Given the description of an element on the screen output the (x, y) to click on. 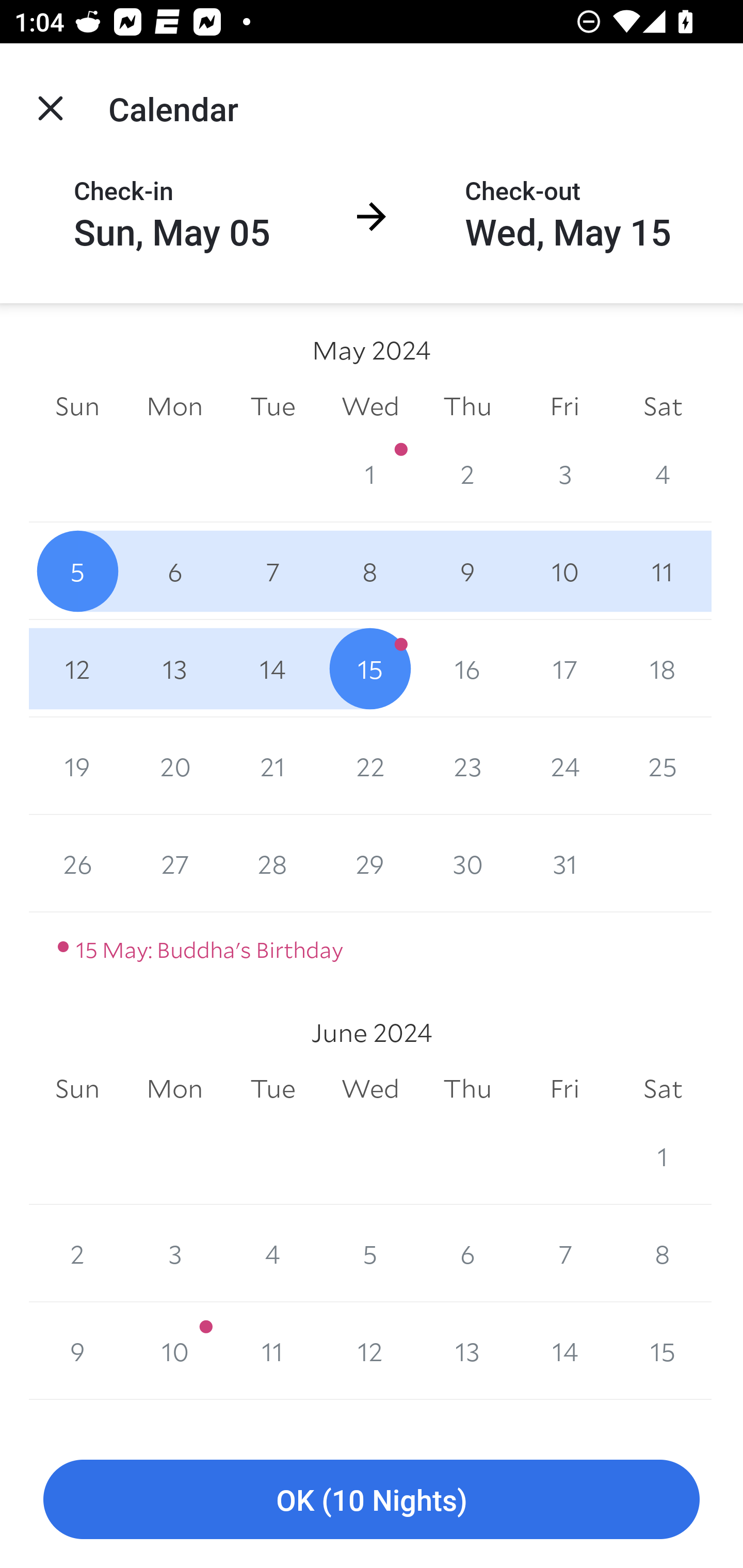
Sun (77, 405)
Mon (174, 405)
Tue (272, 405)
Wed (370, 405)
Thu (467, 405)
Fri (564, 405)
Sat (662, 405)
1 1 May 2024 (370, 473)
2 2 May 2024 (467, 473)
3 3 May 2024 (564, 473)
4 4 May 2024 (662, 473)
5 5 May 2024 (77, 570)
6 6 May 2024 (174, 570)
7 7 May 2024 (272, 570)
8 8 May 2024 (370, 570)
9 9 May 2024 (467, 570)
10 10 May 2024 (564, 570)
11 11 May 2024 (662, 570)
12 12 May 2024 (77, 668)
13 13 May 2024 (174, 668)
14 14 May 2024 (272, 668)
15 15 May 2024 (370, 668)
16 16 May 2024 (467, 668)
17 17 May 2024 (564, 668)
18 18 May 2024 (662, 668)
19 19 May 2024 (77, 766)
20 20 May 2024 (174, 766)
21 21 May 2024 (272, 766)
22 22 May 2024 (370, 766)
23 23 May 2024 (467, 766)
24 24 May 2024 (564, 766)
25 25 May 2024 (662, 766)
26 26 May 2024 (77, 863)
27 27 May 2024 (174, 863)
28 28 May 2024 (272, 863)
29 29 May 2024 (370, 863)
30 30 May 2024 (467, 863)
31 31 May 2024 (564, 863)
Sun (77, 1088)
Mon (174, 1088)
Tue (272, 1088)
Wed (370, 1088)
Thu (467, 1088)
Fri (564, 1088)
Sat (662, 1088)
1 1 June 2024 (662, 1155)
2 2 June 2024 (77, 1253)
3 3 June 2024 (174, 1253)
4 4 June 2024 (272, 1253)
5 5 June 2024 (370, 1253)
6 6 June 2024 (467, 1253)
7 7 June 2024 (564, 1253)
8 8 June 2024 (662, 1253)
9 9 June 2024 (77, 1351)
10 10 June 2024 (174, 1351)
11 11 June 2024 (272, 1351)
12 12 June 2024 (370, 1351)
13 13 June 2024 (467, 1351)
14 14 June 2024 (564, 1351)
15 15 June 2024 (662, 1351)
OK (10 Nights) (371, 1499)
